Given the description of an element on the screen output the (x, y) to click on. 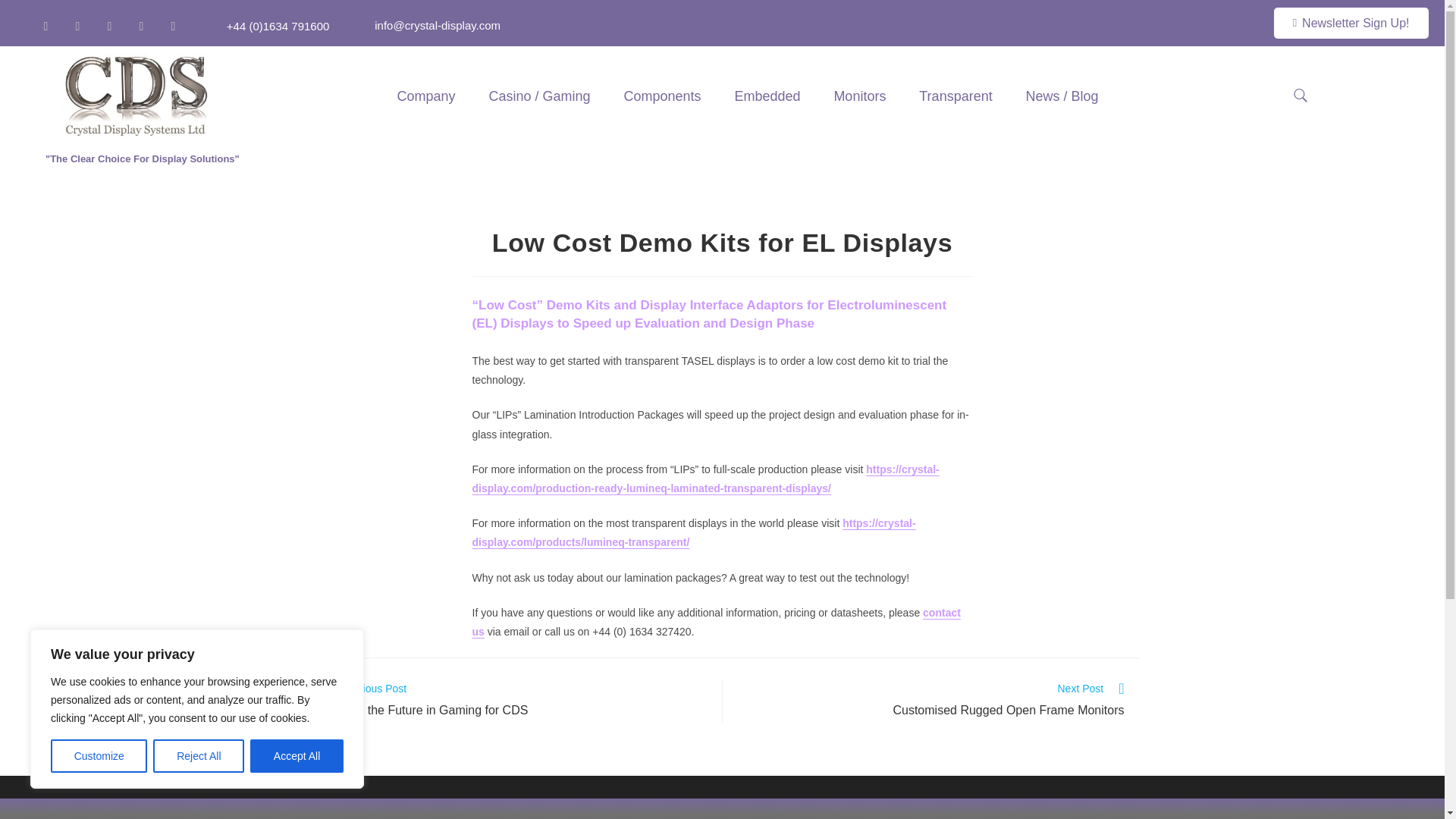
Company (426, 96)
Reject All (198, 756)
Customize (98, 756)
Components (661, 96)
Accept All (296, 756)
